Given the description of an element on the screen output the (x, y) to click on. 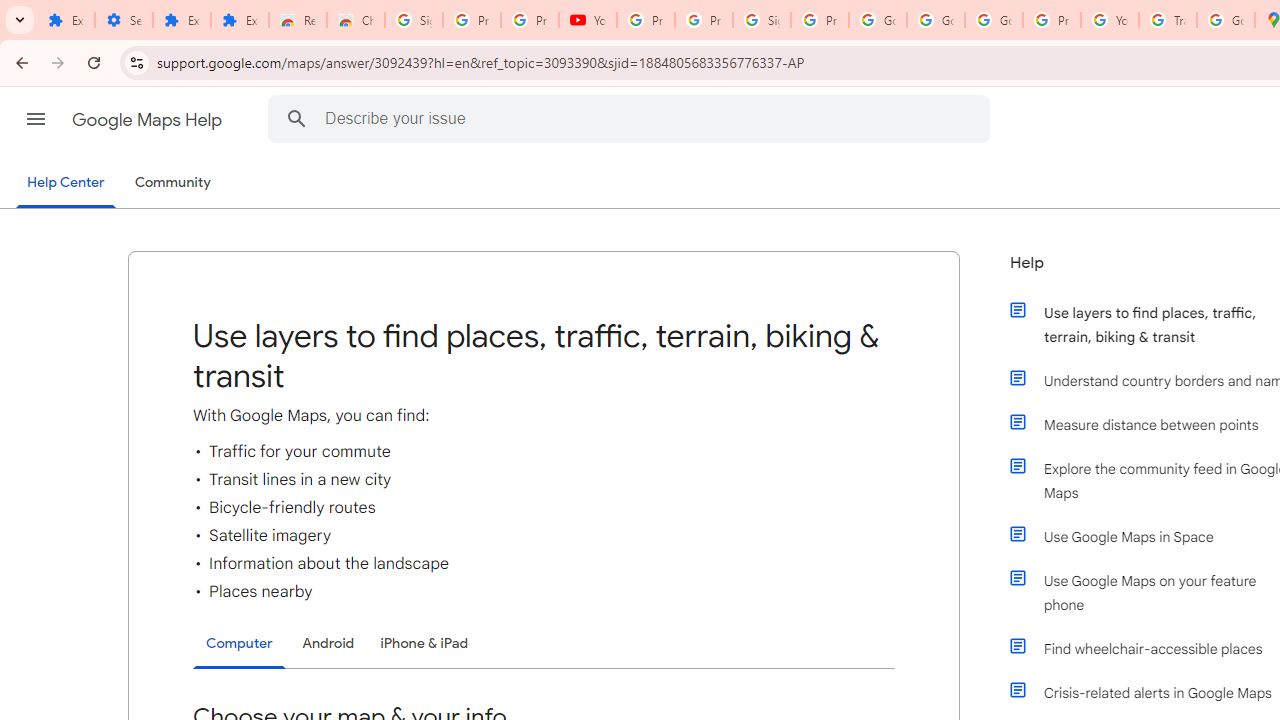
Help Center (65, 183)
Describe your issue (632, 118)
Chrome Web Store - Themes (355, 20)
Android (328, 642)
